Given the description of an element on the screen output the (x, y) to click on. 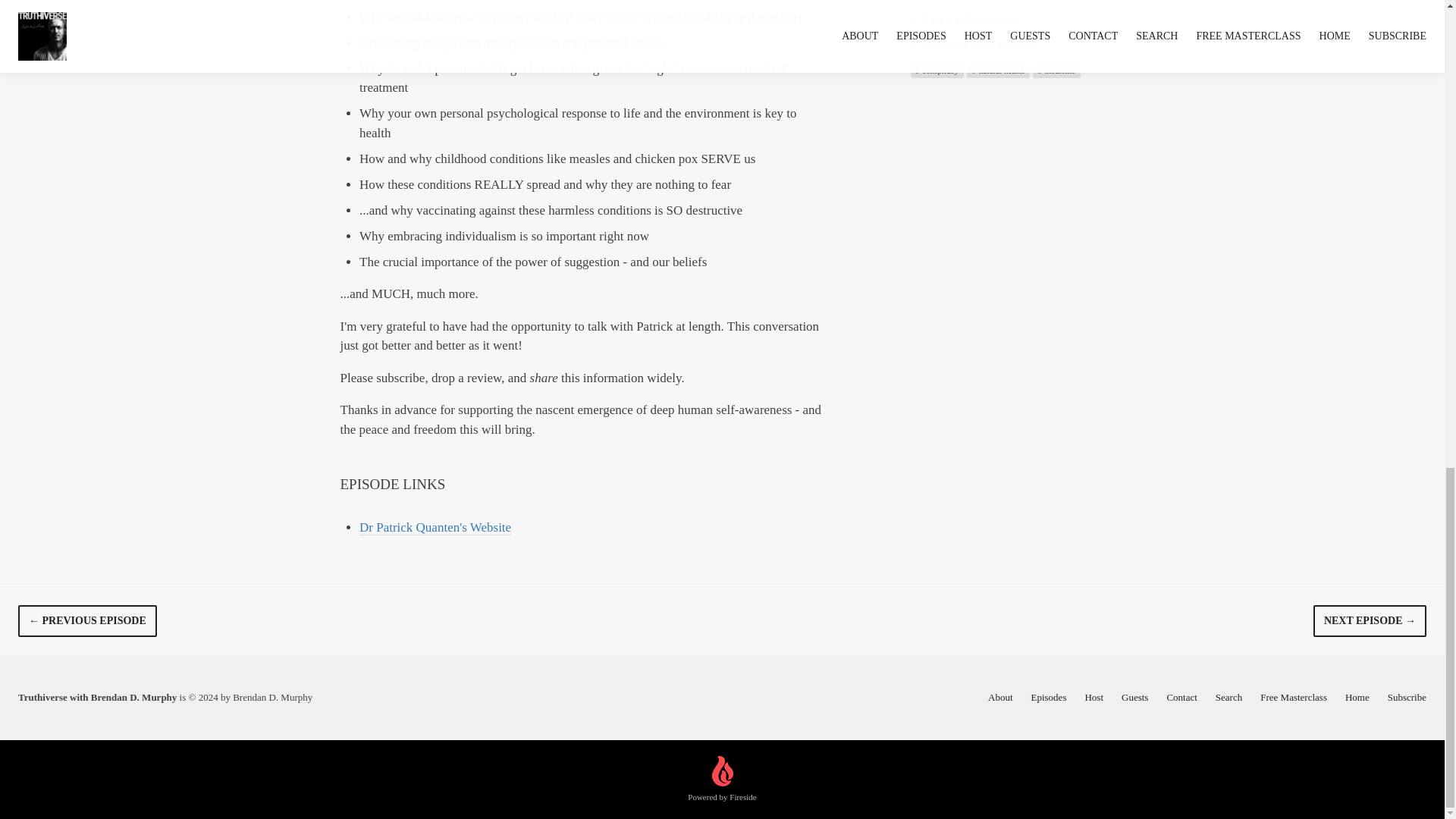
Transcript (937, 0)
Powered by Fireside (721, 779)
medicine (1056, 69)
conspiracy (936, 69)
Host (1093, 696)
Guests (1134, 696)
Dr Patrick Quanten's Website (435, 527)
About (1000, 696)
Contact (1181, 696)
Link with Timestamp (961, 19)
Dr Patrick Quanten's Website (435, 527)
Episodes (1048, 696)
natural health (997, 69)
